Given the description of an element on the screen output the (x, y) to click on. 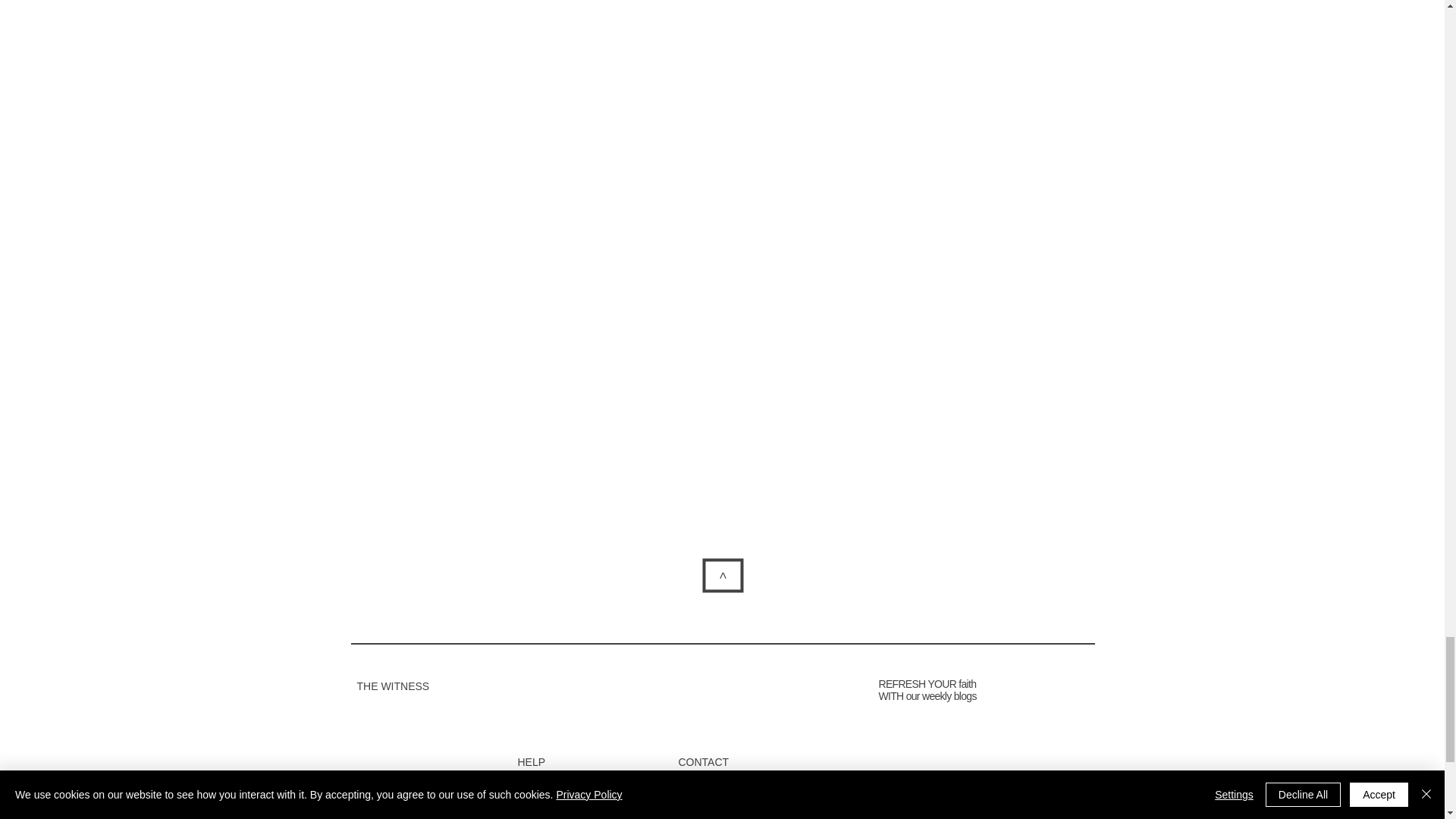
HOME (428, 806)
